Given the description of an element on the screen output the (x, y) to click on. 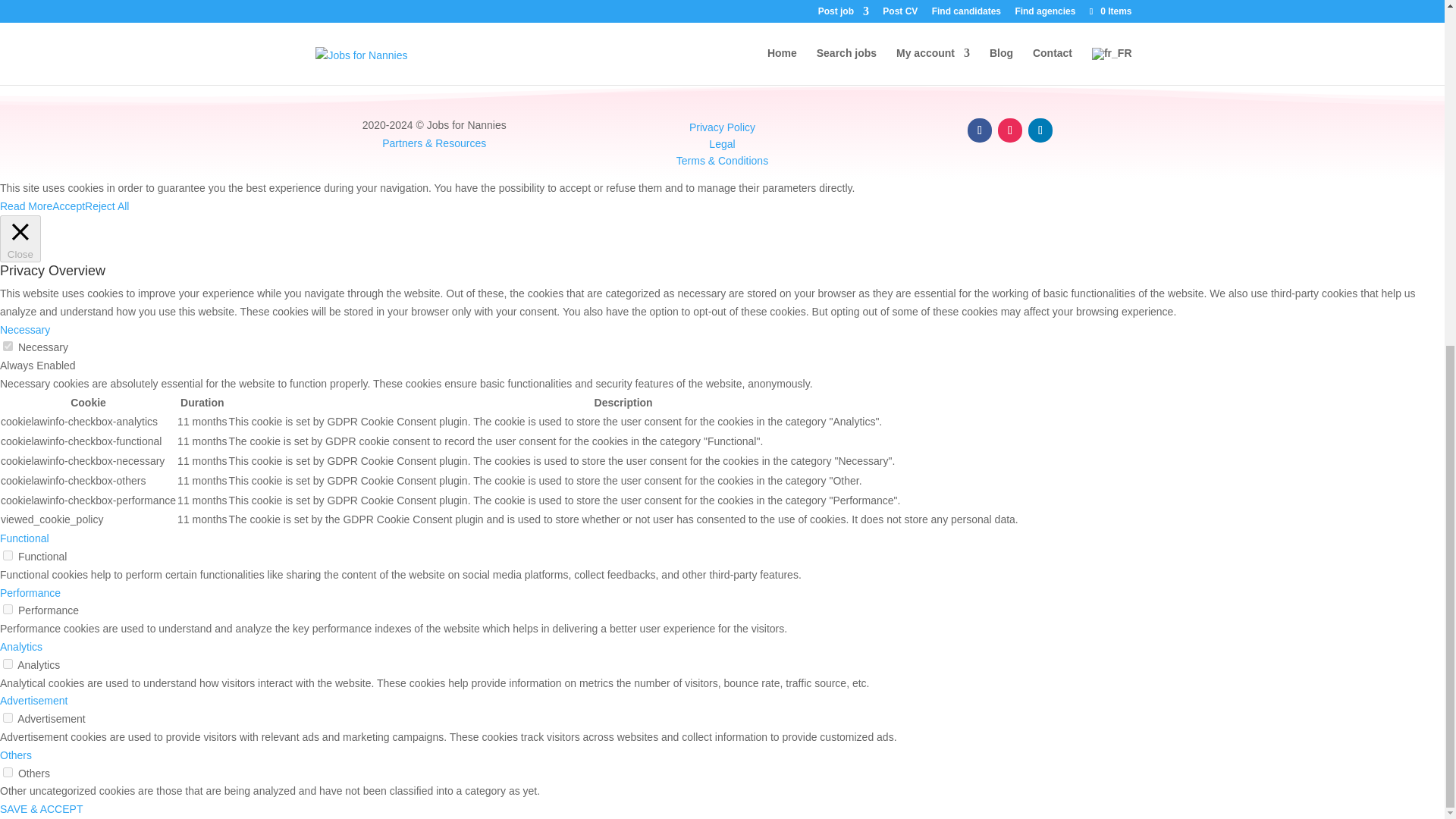
Follow on Instagram (1009, 129)
Submit Resume (354, 7)
Follow on Facebook (979, 129)
on (7, 609)
on (7, 346)
Accept (68, 207)
Privacy Policy (721, 127)
on (7, 717)
Legal (722, 143)
Read More (26, 207)
on (7, 772)
Submit Resume (354, 7)
on (7, 555)
on (7, 664)
Follow on LinkedIn (1039, 129)
